Given the description of an element on the screen output the (x, y) to click on. 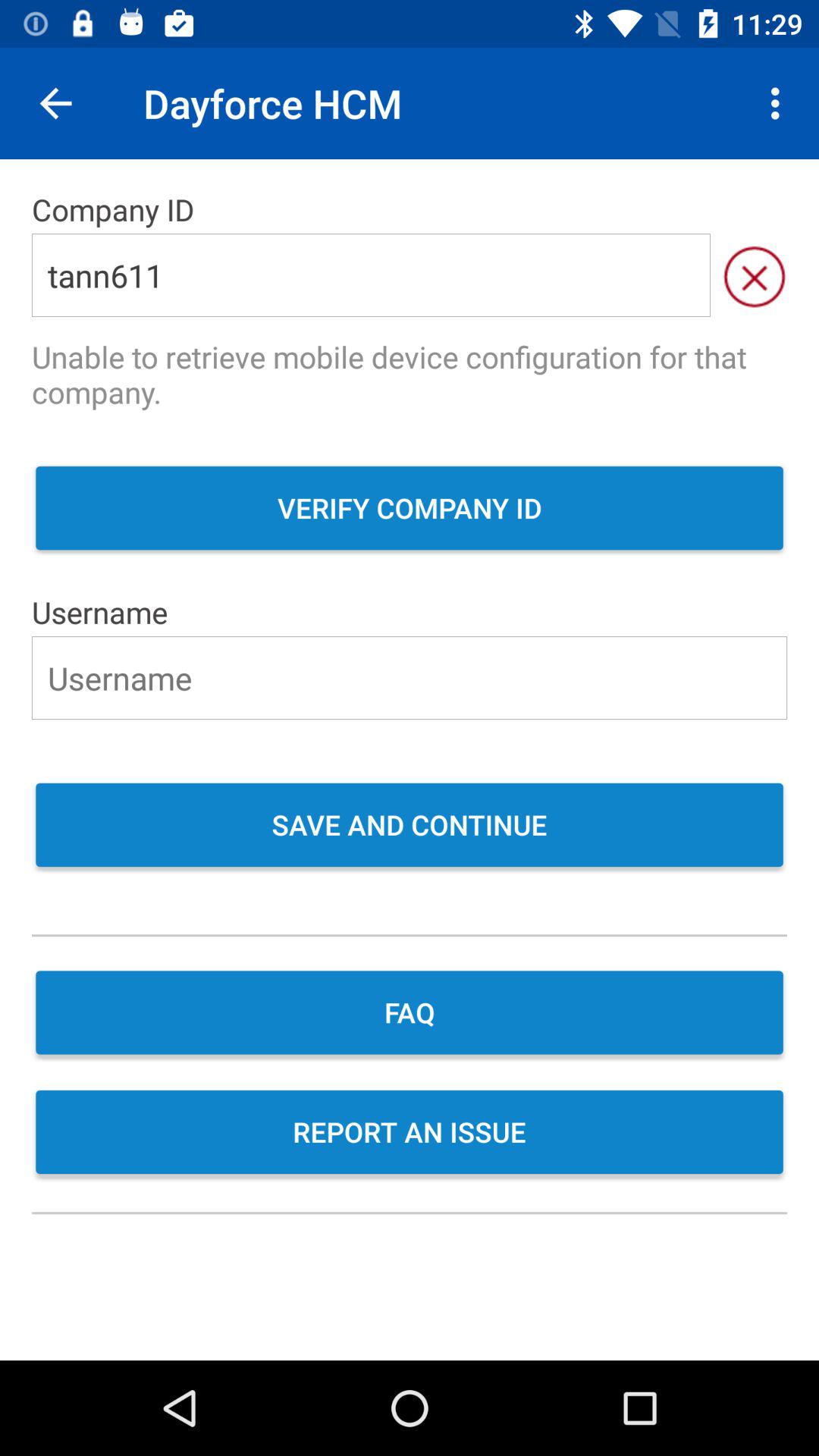
select report an issue (409, 1133)
